Given the description of an element on the screen output the (x, y) to click on. 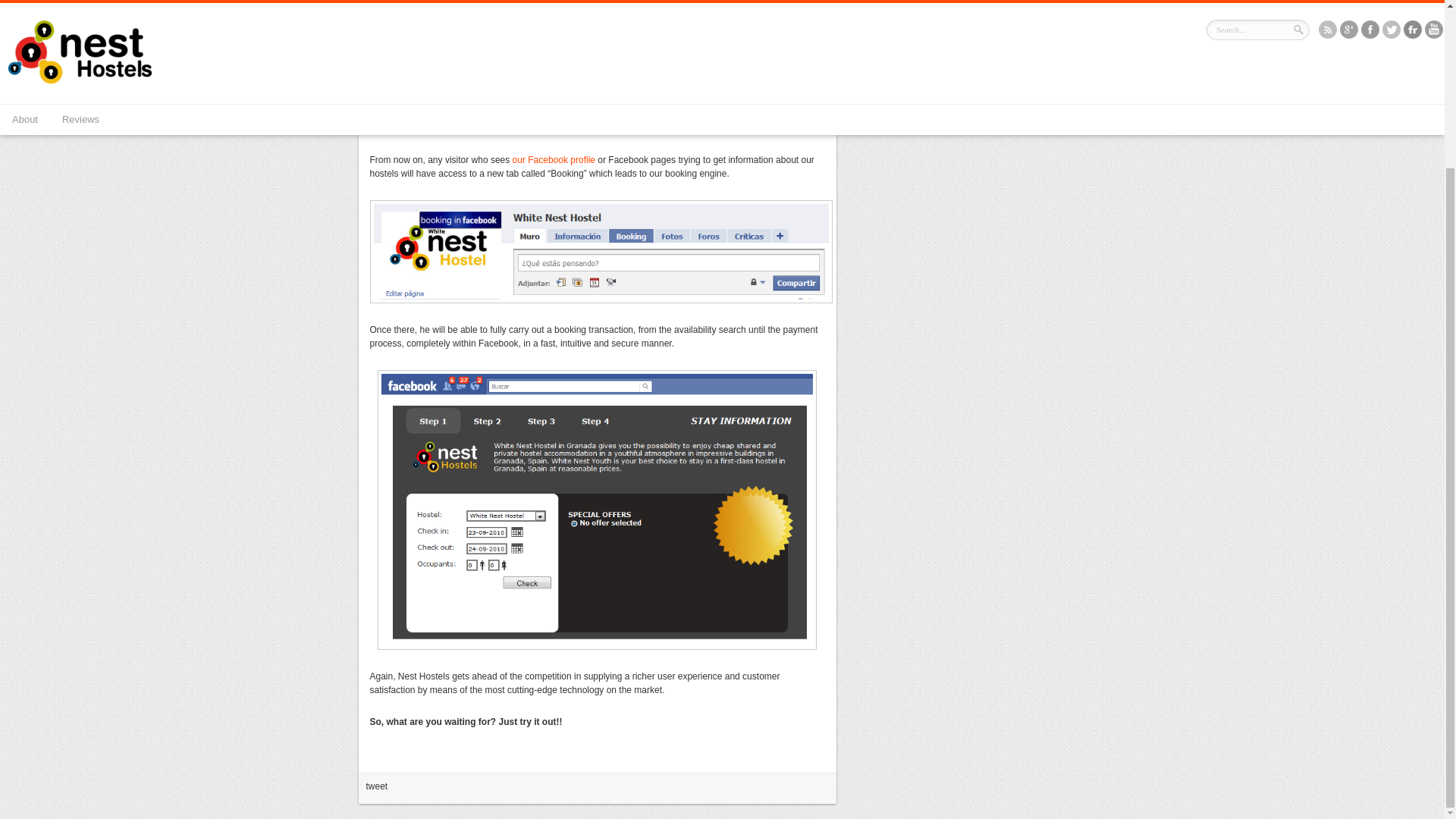
Granada (773, 127)
Barcelona (673, 127)
whitebooking (596, 510)
our Facebook profile (553, 159)
whitescreen (600, 251)
tweet (376, 786)
Granada Nest Hostel's site (773, 127)
Barcelona Nest Hostels' site (673, 127)
Valencia (715, 127)
Valencia Nest Hostels' site (715, 127)
